Given the description of an element on the screen output the (x, y) to click on. 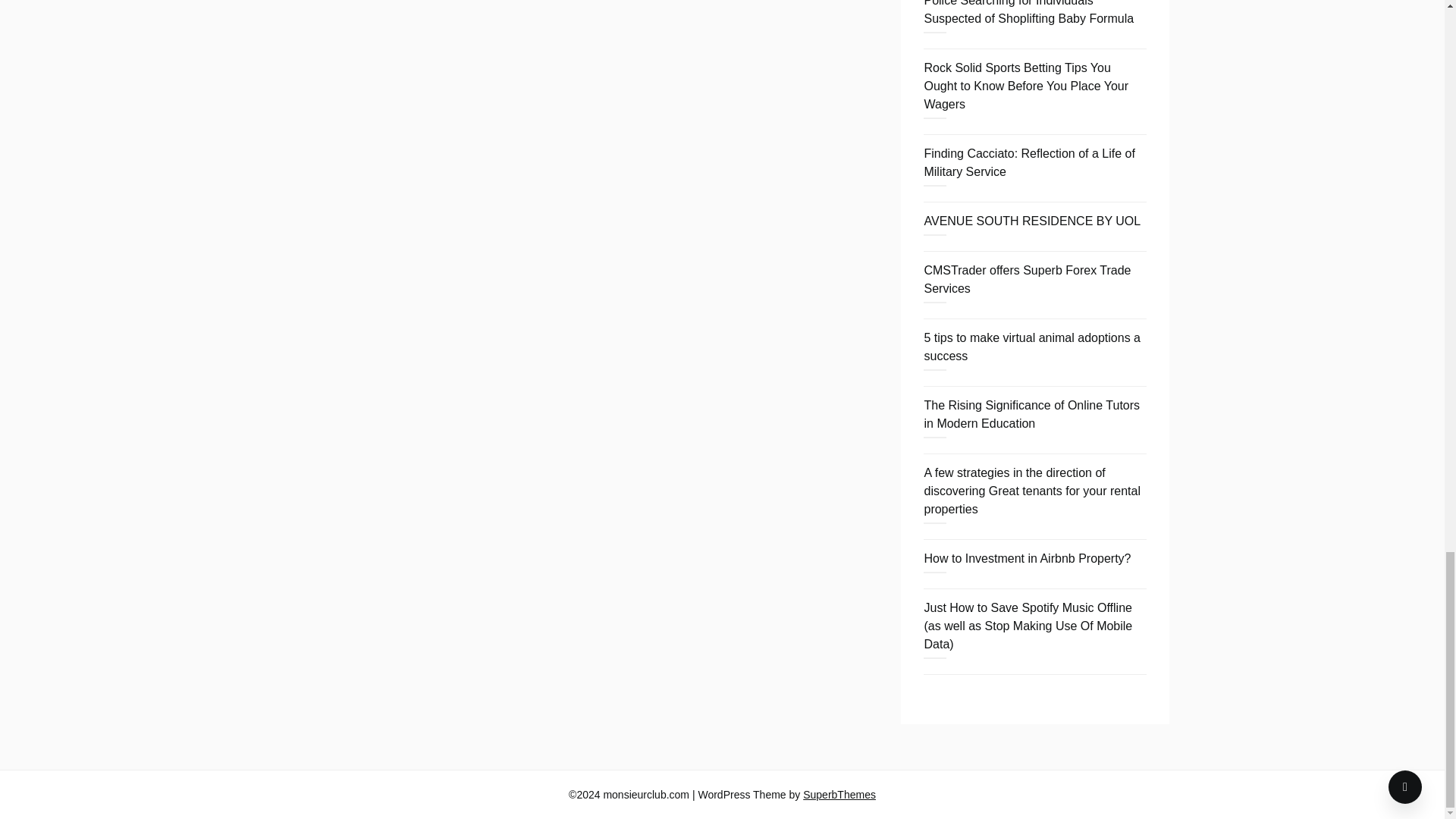
CMSTrader offers Superb Forex Trade Services (1027, 278)
Finding Cacciato: Reflection of a Life of Military Service (1028, 162)
How to Investment in Airbnb Property? (1027, 558)
AVENUE SOUTH RESIDENCE BY UOL (1031, 220)
The Rising Significance of Online Tutors in Modern Education (1031, 413)
5 tips to make virtual animal adoptions a success (1031, 346)
